Given the description of an element on the screen output the (x, y) to click on. 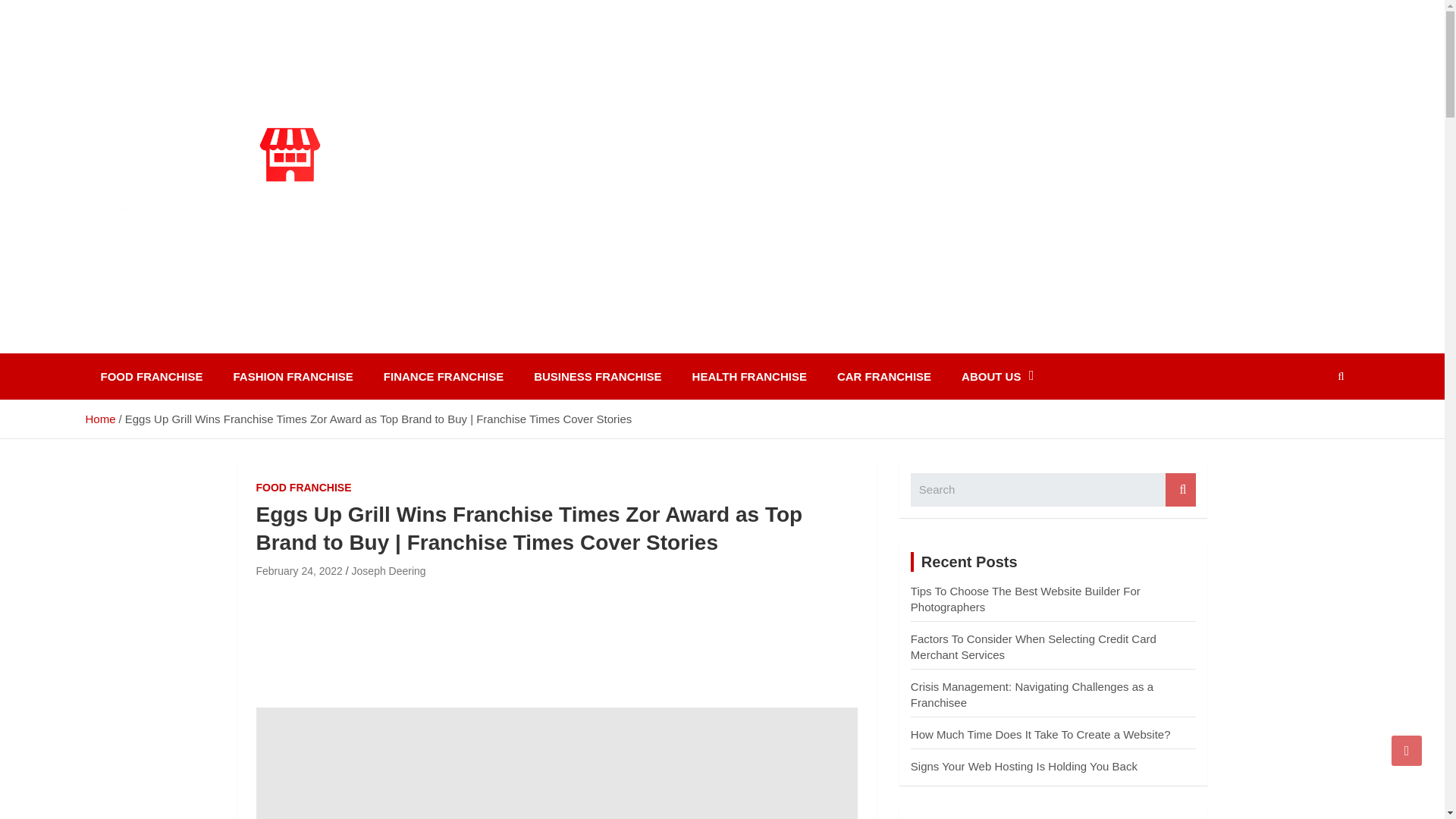
Search (1180, 489)
February 24, 2022 (299, 571)
How Much Time Does It Take To Create a Website? (1040, 734)
BUSINESS FRANCHISE (597, 375)
ABOUT US (997, 375)
HEALTH FRANCHISE (749, 375)
Signs Your Web Hosting Is Holding You Back (1024, 766)
Tips To Choose The Best Website Builder For Photographers (1025, 598)
Franchise Business Club (265, 342)
Crisis Management: Navigating Challenges as a Franchisee (1032, 694)
